Given the description of an element on the screen output the (x, y) to click on. 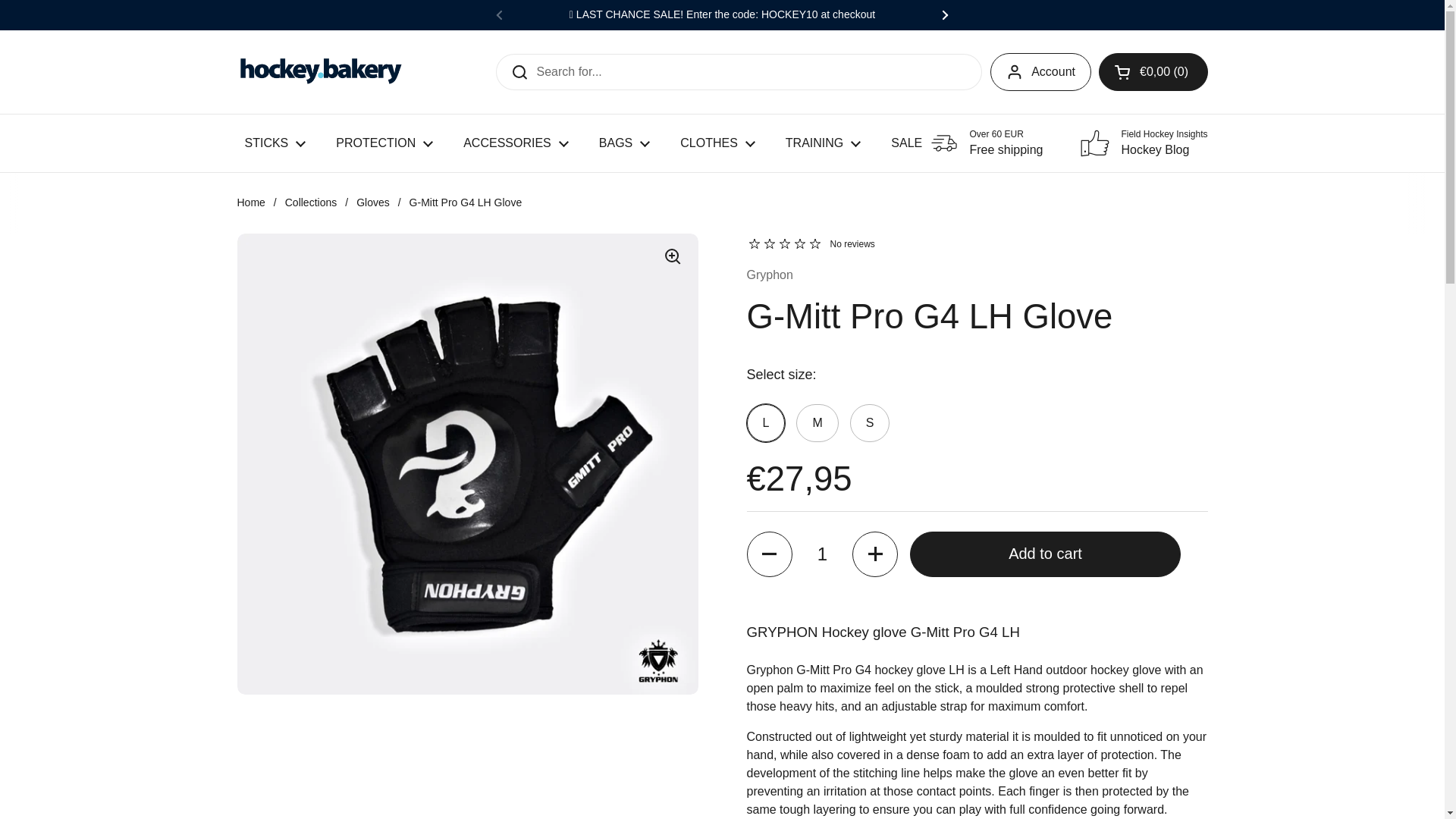
Account (1040, 71)
STICKS (274, 143)
Open cart (1153, 71)
1 (821, 554)
PROTECTION (384, 143)
